Given the description of an element on the screen output the (x, y) to click on. 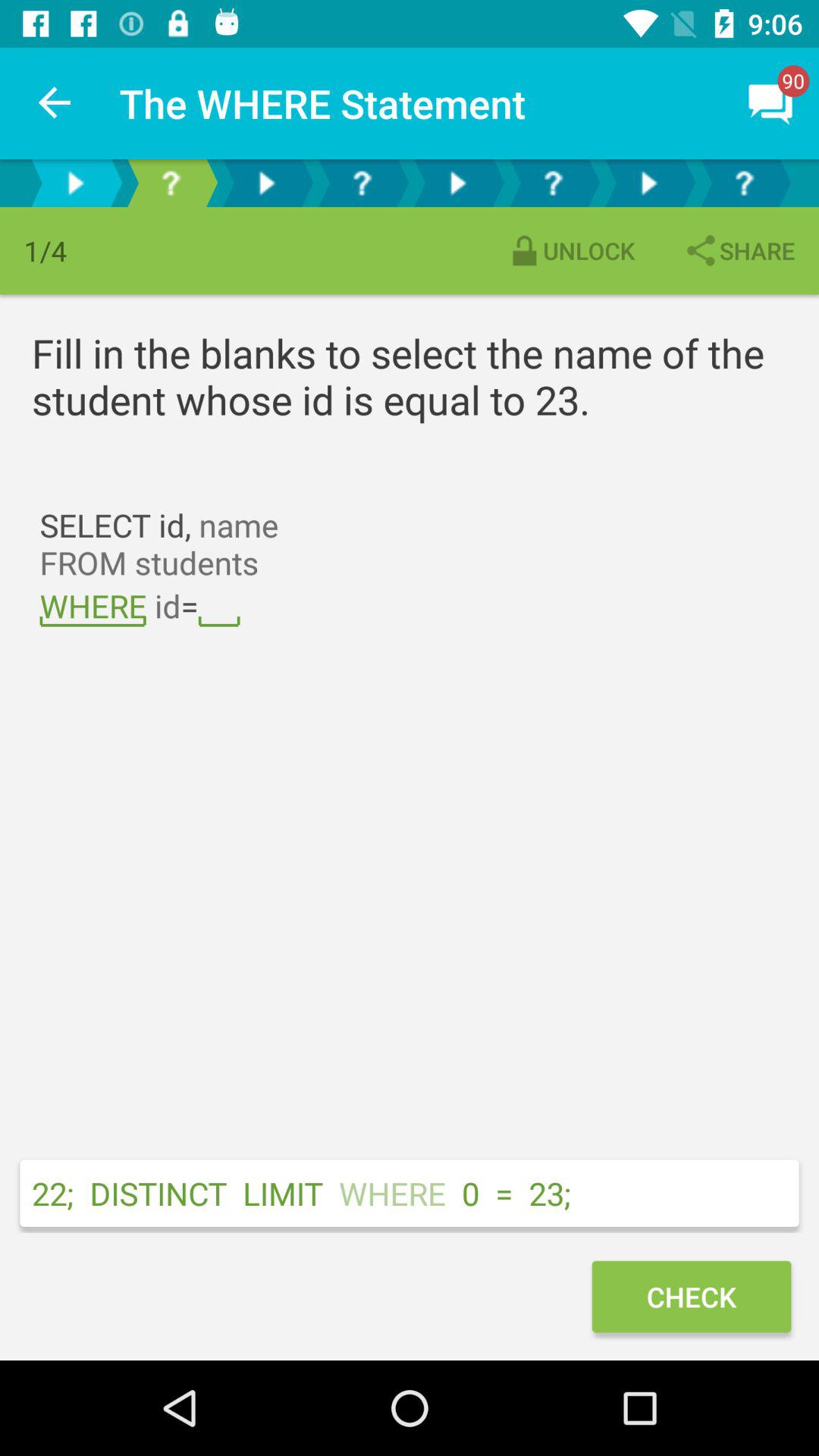
play the next file (265, 183)
